Given the description of an element on the screen output the (x, y) to click on. 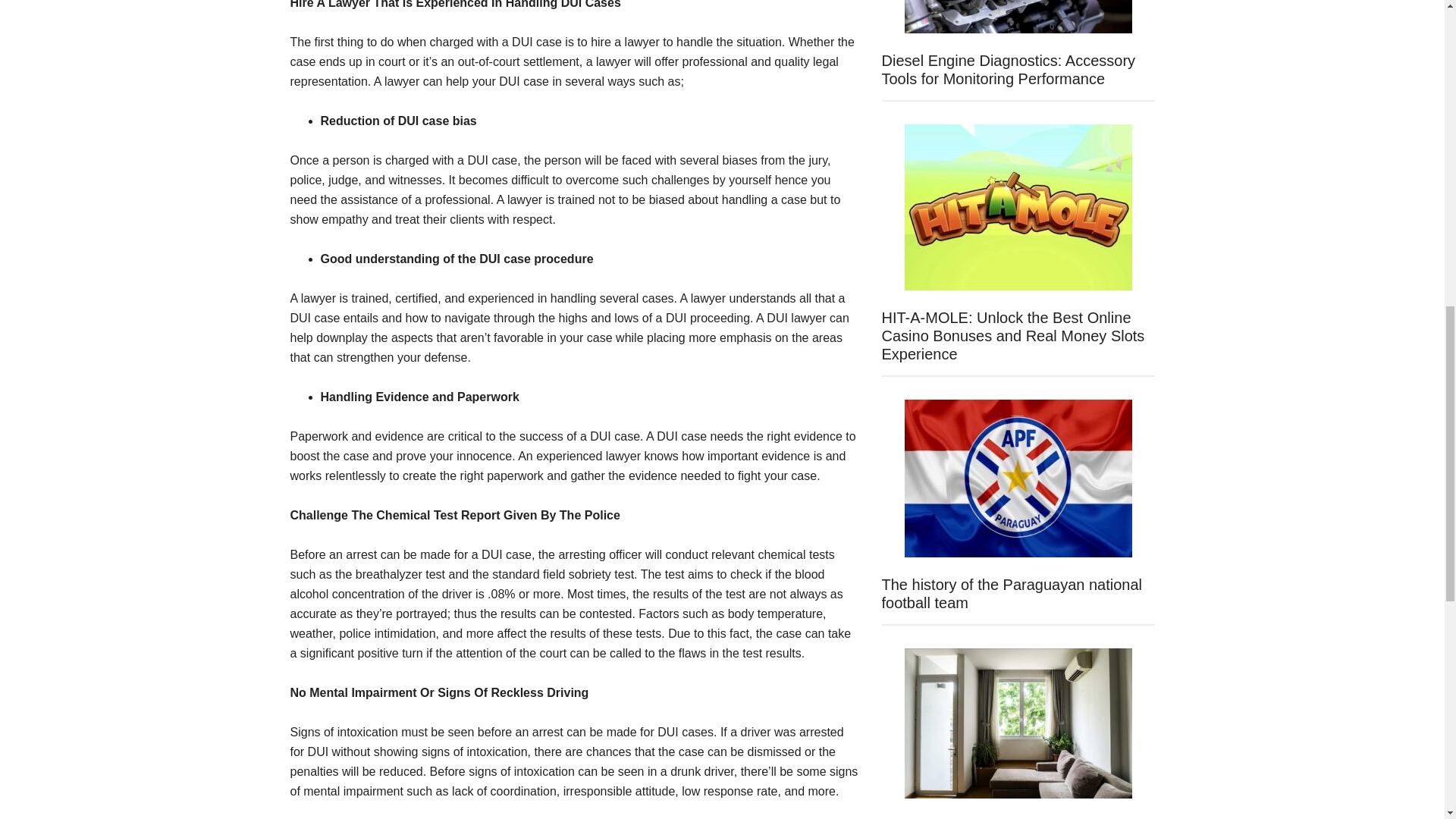
The history of the Paraguayan national football team (1010, 593)
